Given the description of an element on the screen output the (x, y) to click on. 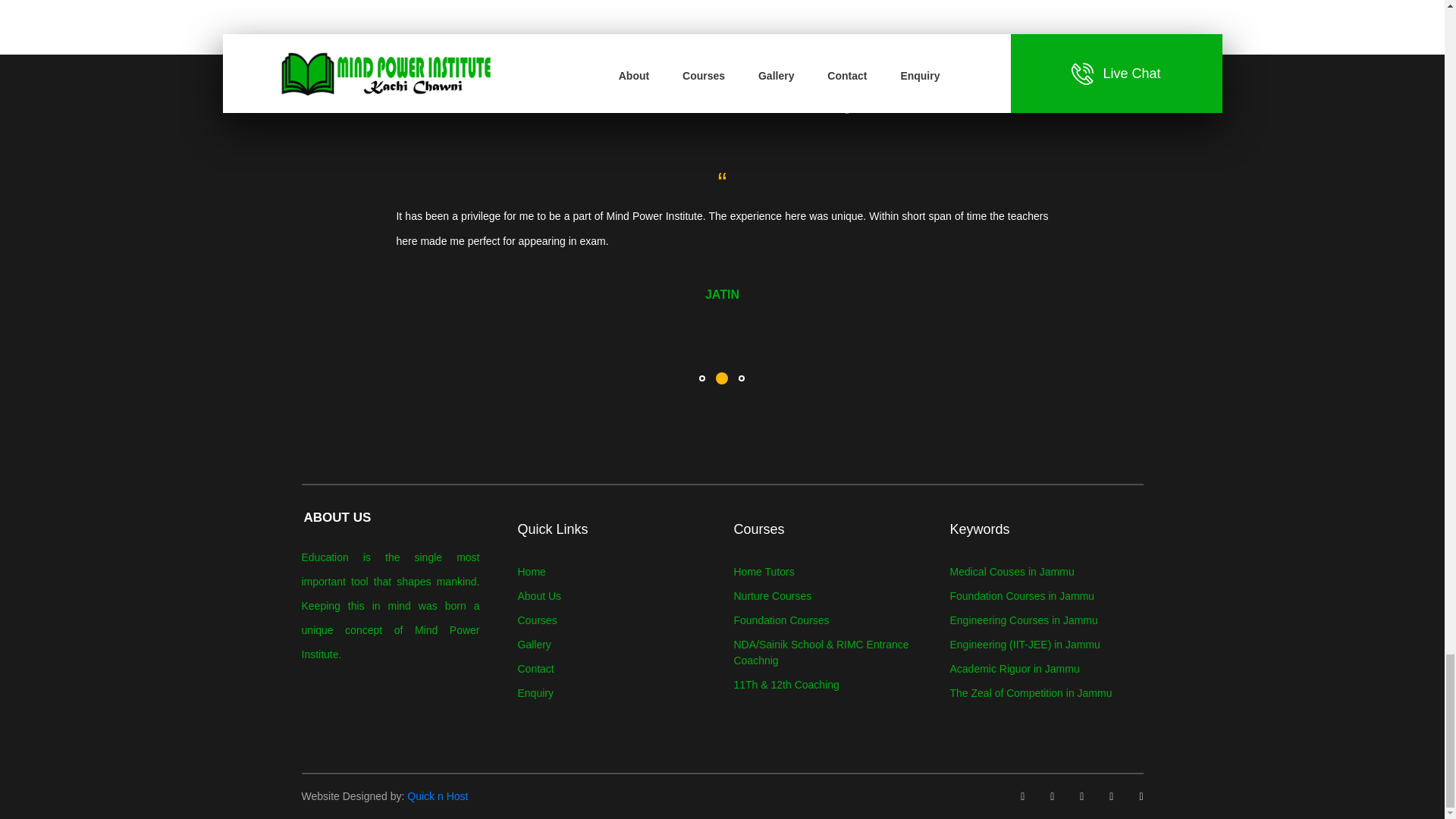
Contact (534, 668)
About Us (538, 595)
Enquiry (534, 693)
Gallery (533, 644)
Home (530, 571)
Courses (536, 620)
